Given the description of an element on the screen output the (x, y) to click on. 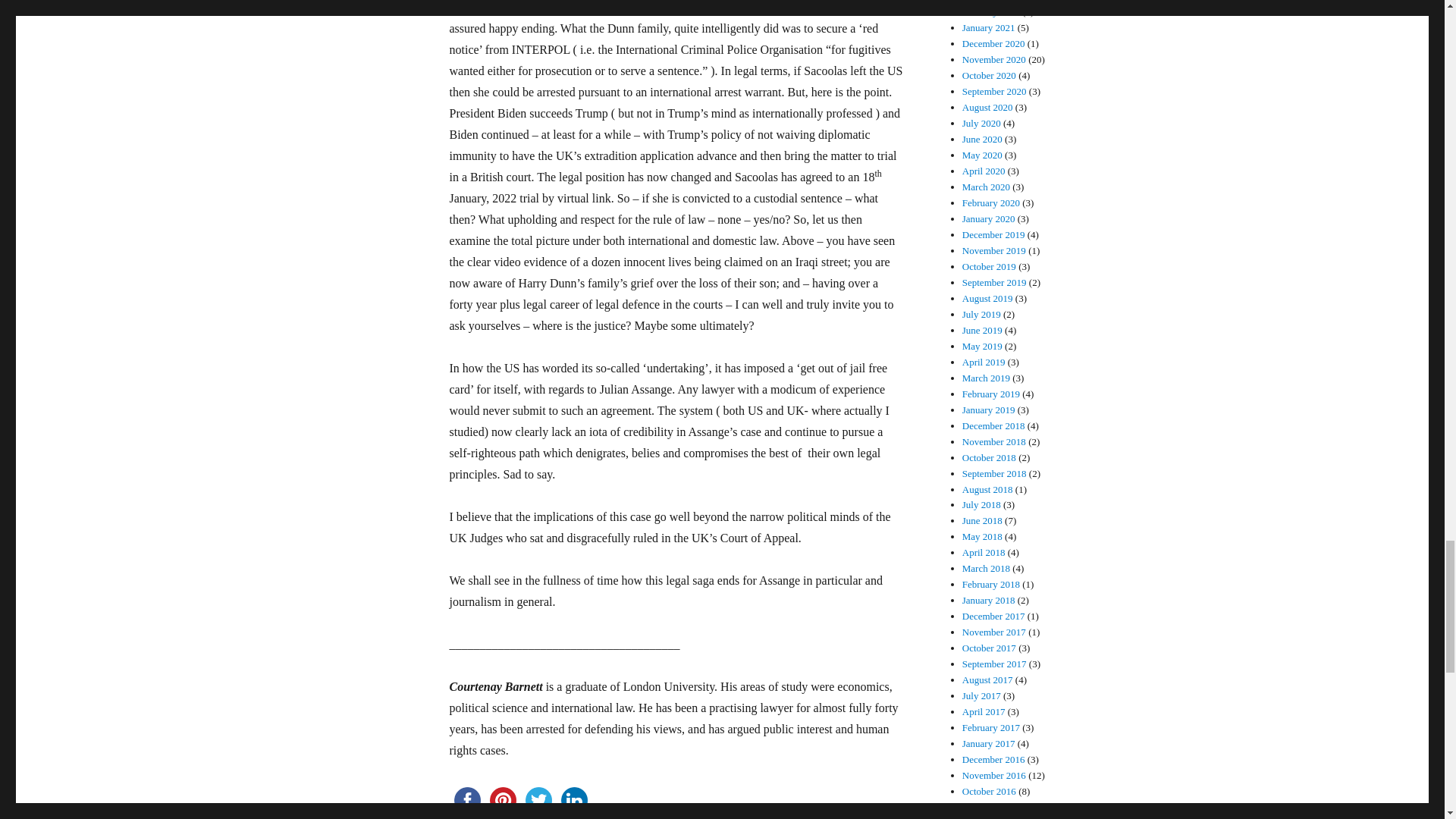
linkedin (574, 800)
twitter (537, 800)
pinterest (502, 800)
facebook (466, 800)
